Given the description of an element on the screen output the (x, y) to click on. 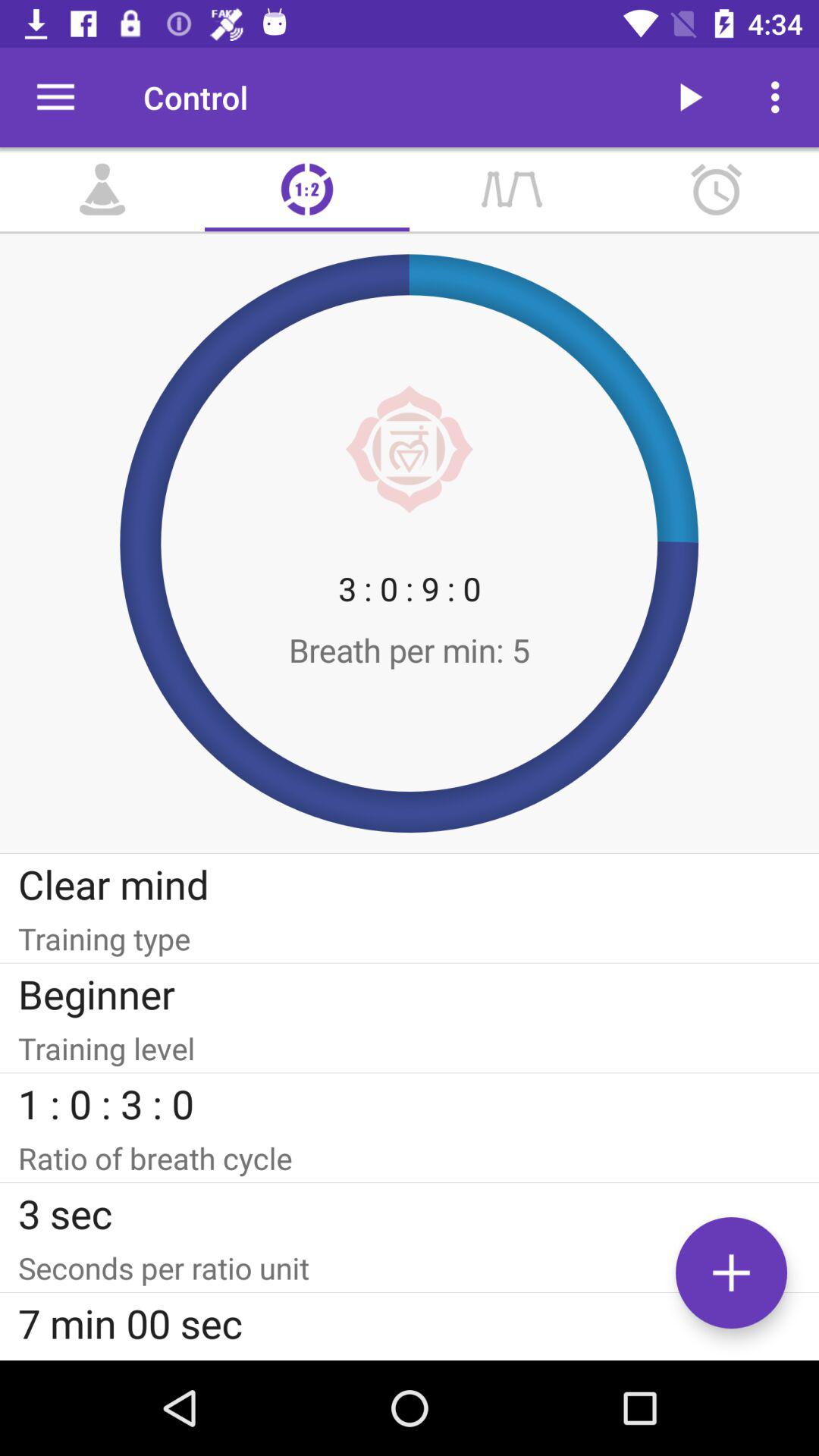
swipe to 7 min 00 (409, 1322)
